Given the description of an element on the screen output the (x, y) to click on. 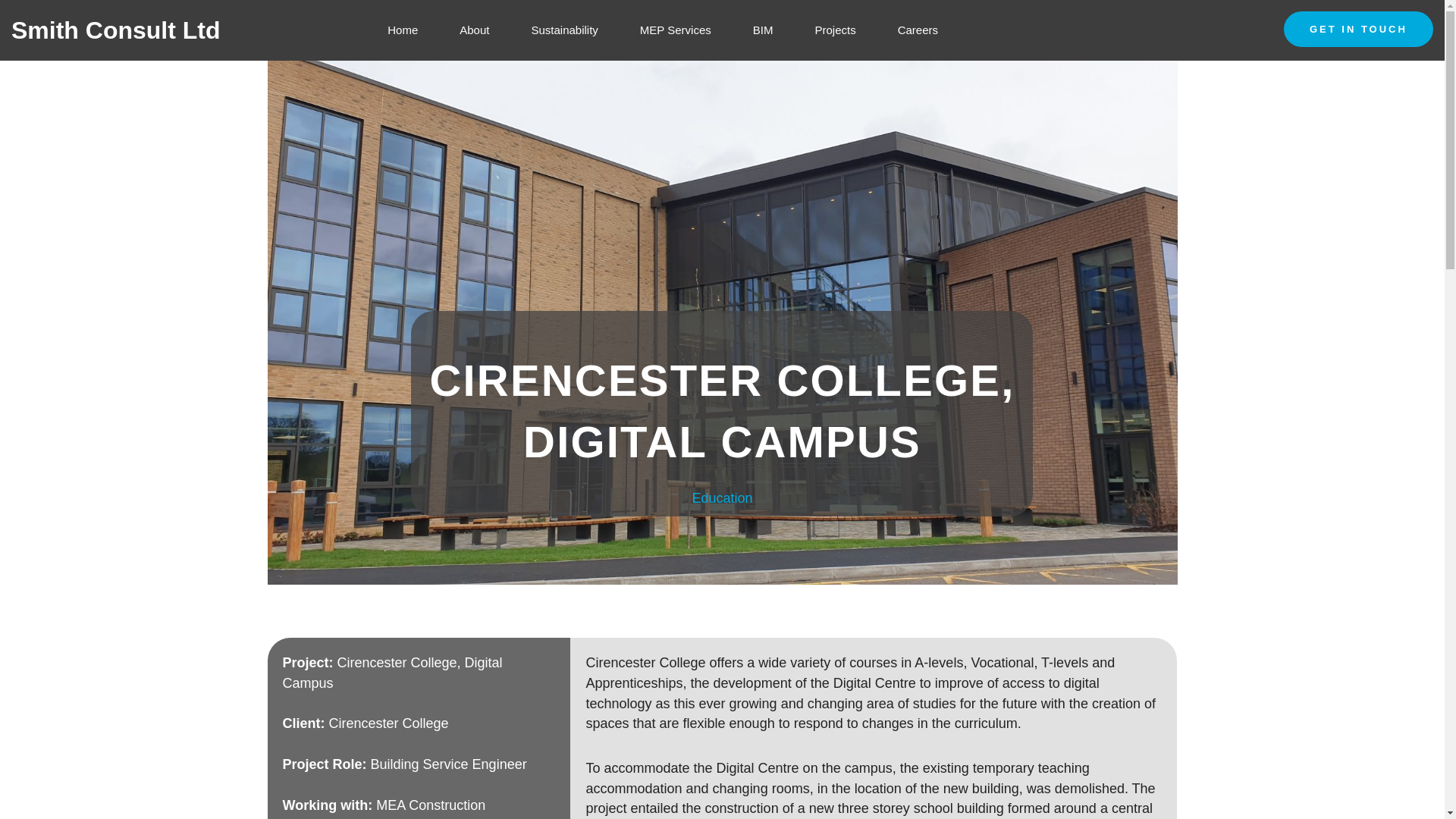
Sustainability (563, 30)
Careers (917, 30)
Home (402, 30)
MEP Services (675, 30)
BIM (763, 30)
Projects (834, 30)
GET IN TOUCH (1358, 28)
About (473, 30)
